Given the description of an element on the screen output the (x, y) to click on. 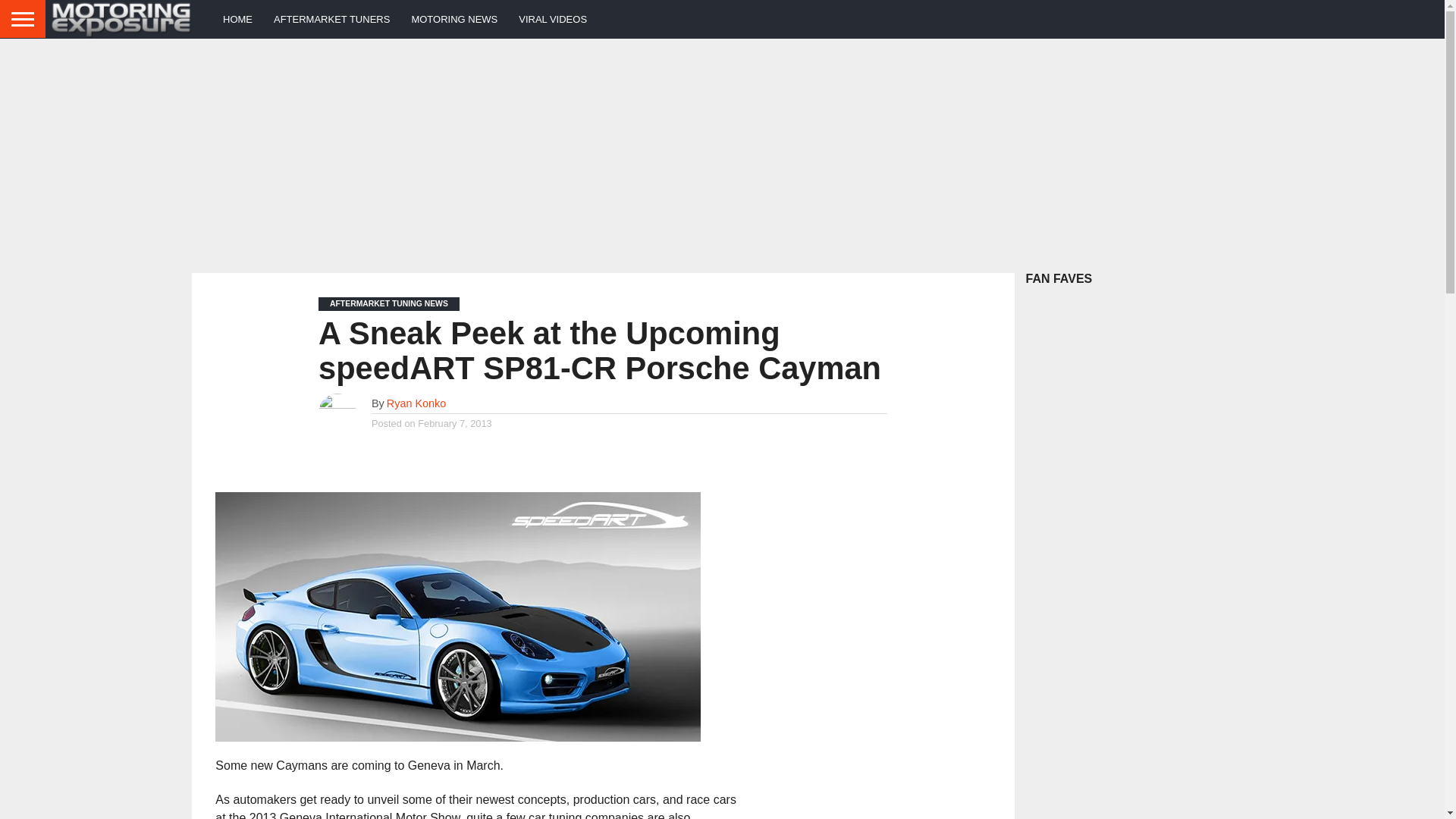
Ryan Konko (416, 403)
HOME (237, 18)
AFTERMARKET TUNERS (331, 18)
VIRAL VIDEOS (552, 18)
Posts by Ryan Konko (416, 403)
MOTORING NEWS (454, 18)
